Given the description of an element on the screen output the (x, y) to click on. 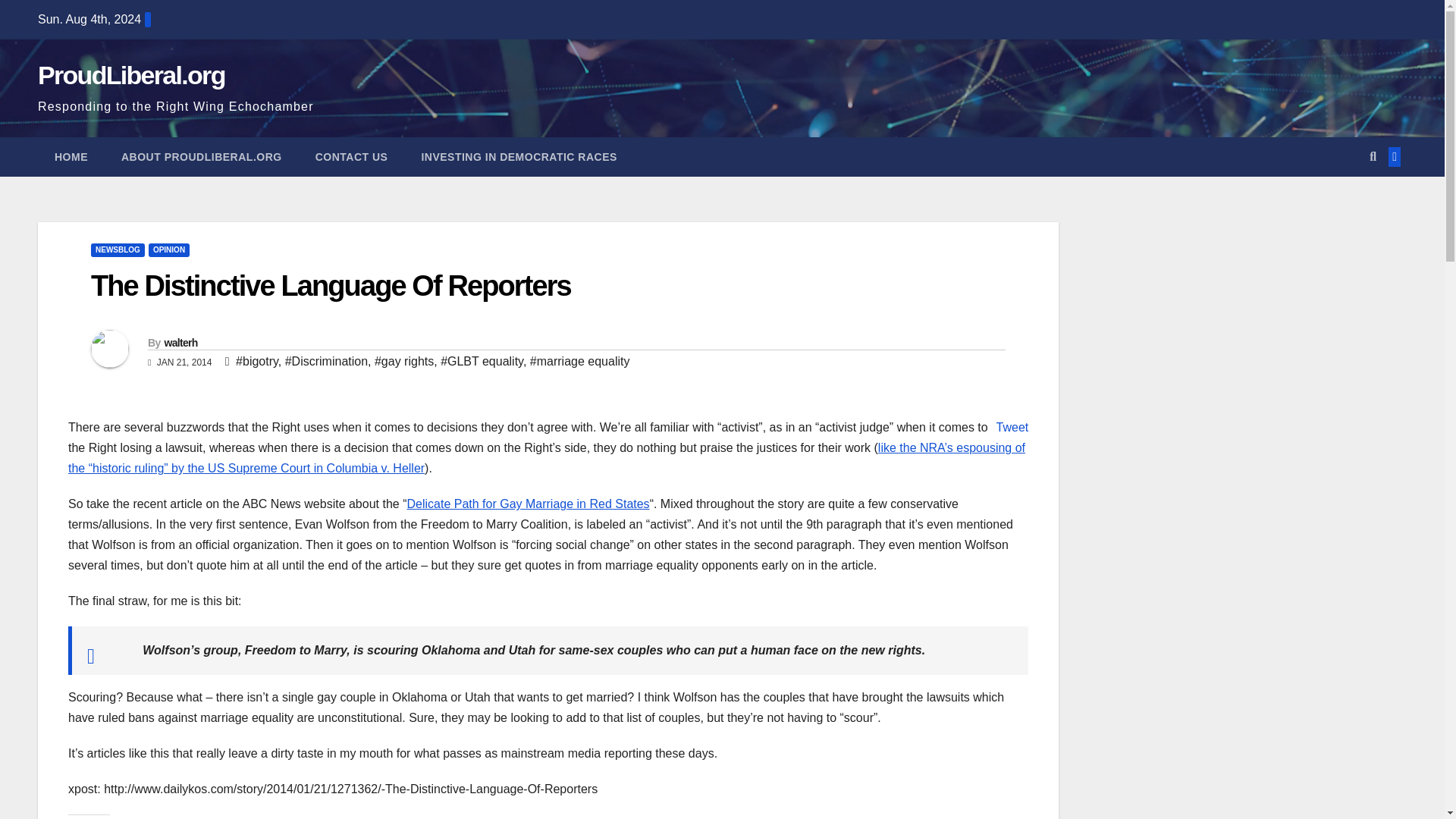
ABOUT PROUDLIBERAL.ORG (201, 156)
Permalink to: The Distinctive Language Of Reporters (330, 286)
walterh (179, 342)
The Distinctive Language Of Reporters (330, 286)
NEWSBLOG (117, 250)
INVESTING IN DEMOCRATIC RACES (518, 156)
CONTACT US (351, 156)
HOME (70, 156)
OPINION (168, 250)
ProudLiberal.org (131, 74)
Home (70, 156)
